Given the description of an element on the screen output the (x, y) to click on. 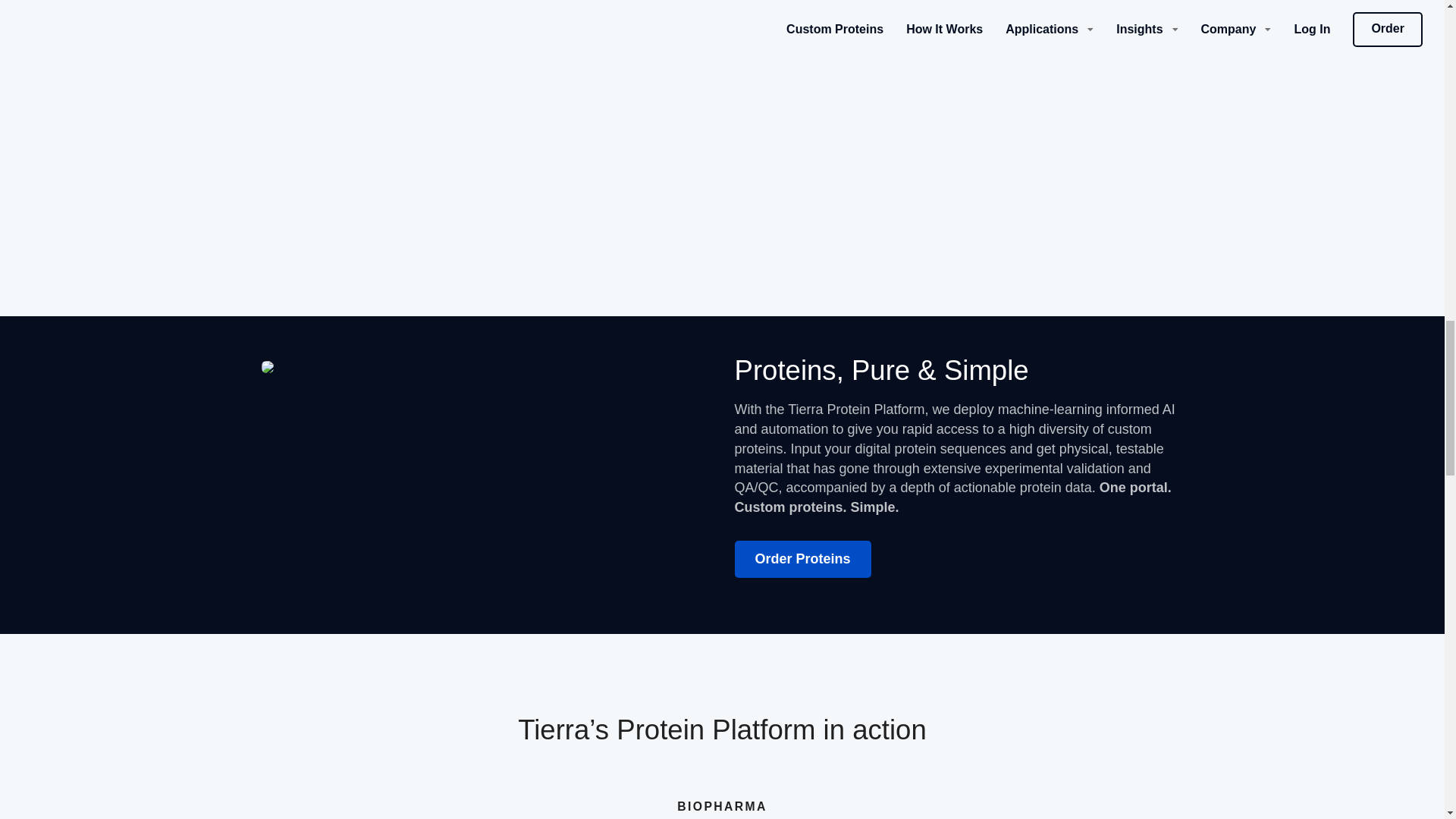
Order Proteins (801, 559)
